Given the description of an element on the screen output the (x, y) to click on. 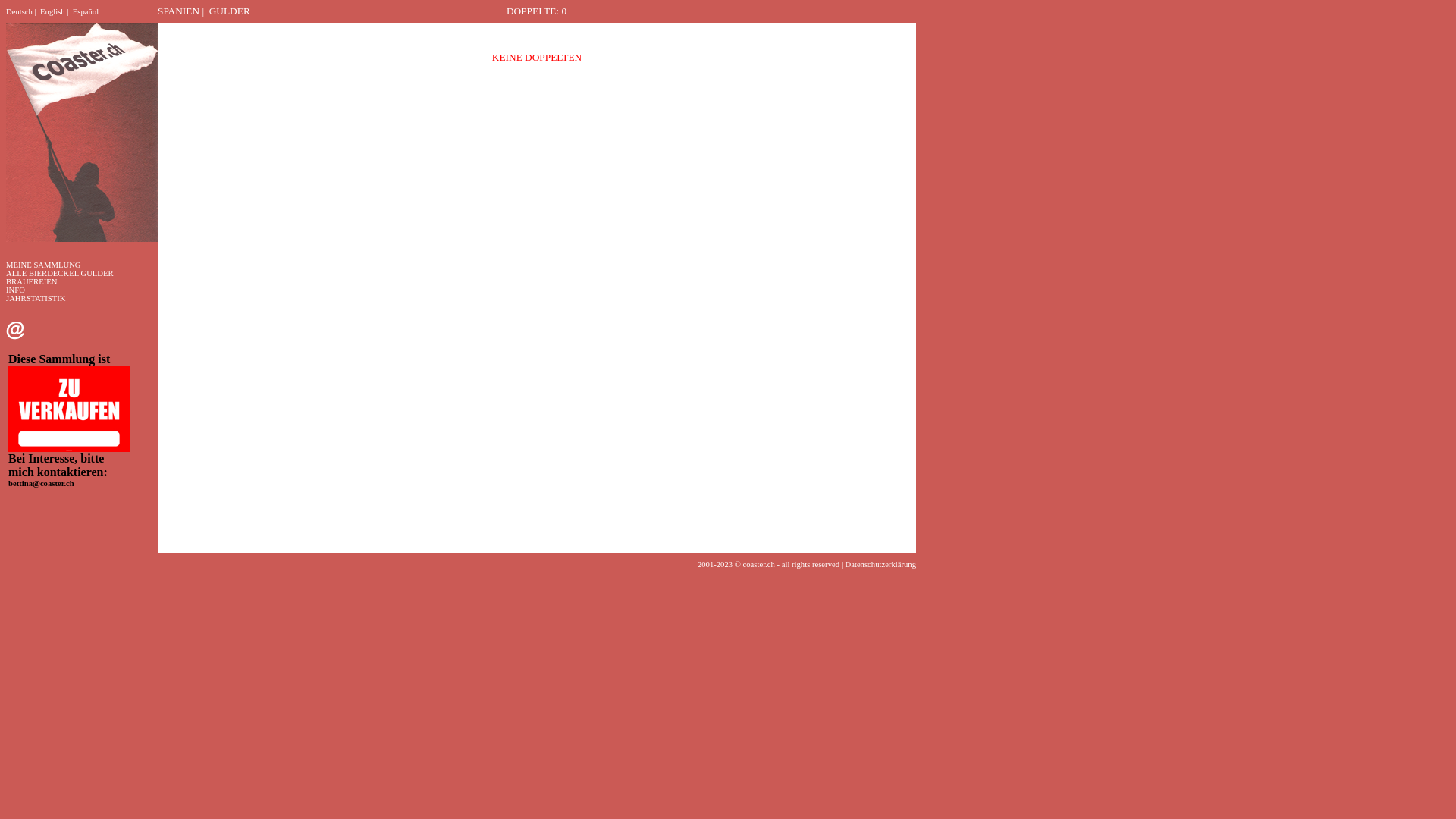
English Element type: text (52, 11)
SPANIEN Element type: text (178, 10)
ALLE BIERDECKEL GULDER Element type: text (59, 273)
MEINE SAMMLUNG Element type: text (43, 264)
BRAUEREIEN Element type: text (31, 281)
Deutsch Element type: text (19, 11)
JAHRSTATISTIK Element type: text (35, 298)
bettina@coaster.ch Element type: text (41, 483)
INFO Element type: text (15, 289)
